Given the description of an element on the screen output the (x, y) to click on. 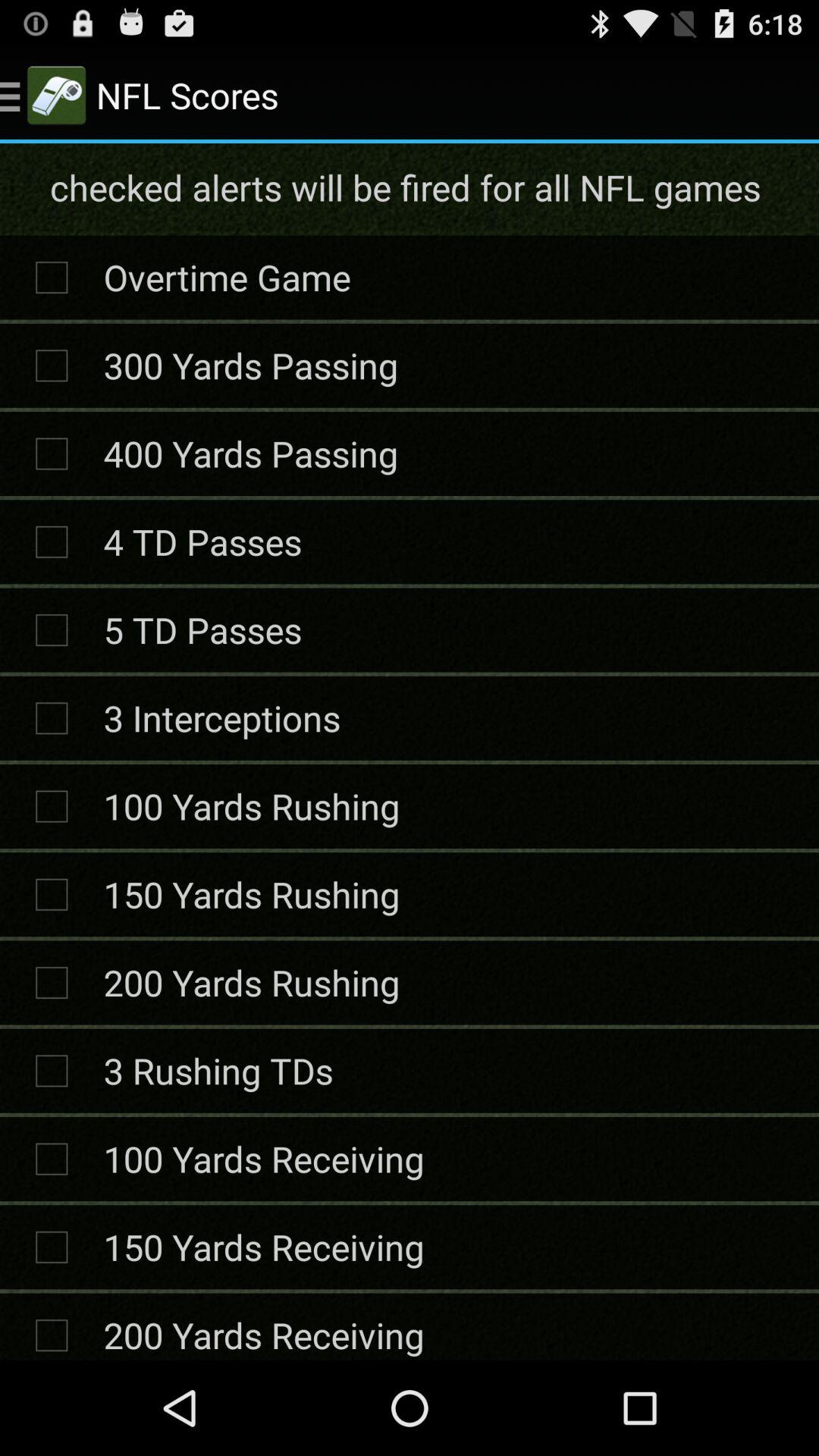
select the item above 100 yards rushing (221, 717)
